Given the description of an element on the screen output the (x, y) to click on. 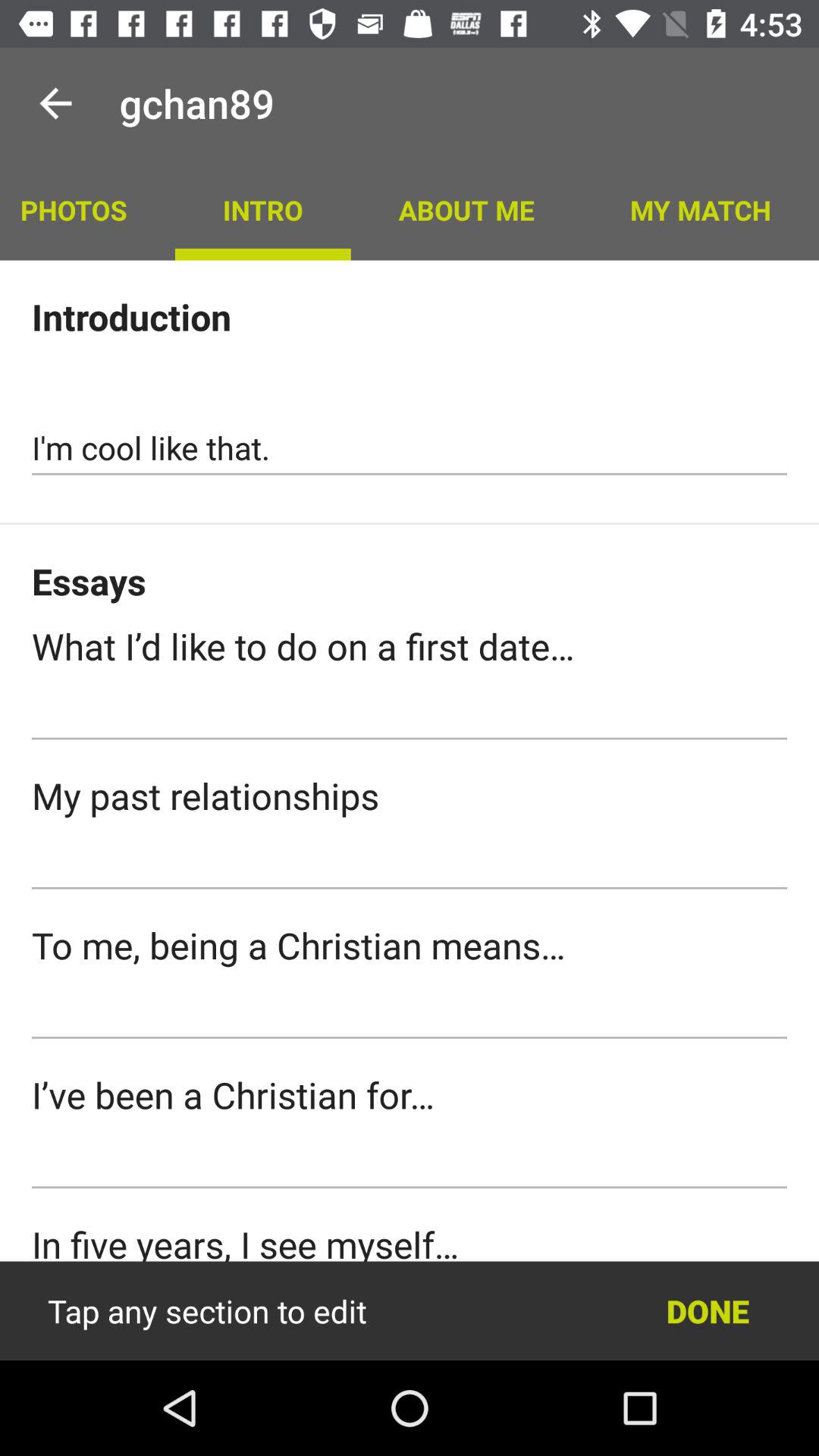
tell what is christmas (409, 1011)
